Given the description of an element on the screen output the (x, y) to click on. 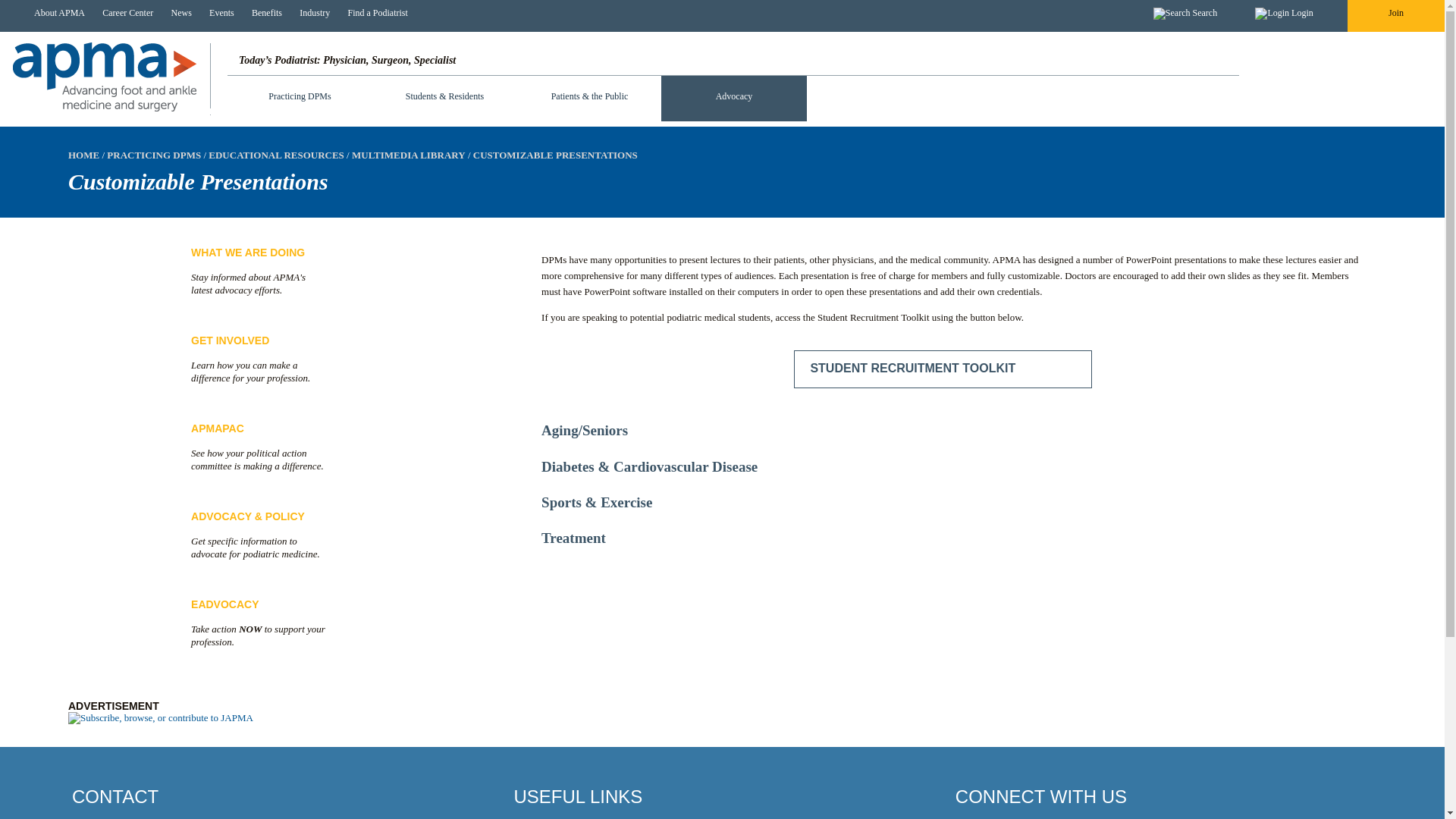
Find a Podiatrist (373, 13)
News (176, 13)
Practicing DPMs (299, 87)
Benefits (262, 13)
Events (218, 13)
Advocacy (733, 98)
Career Center (123, 13)
Industry (310, 13)
Search (1185, 13)
Login (1283, 13)
